Given the description of an element on the screen output the (x, y) to click on. 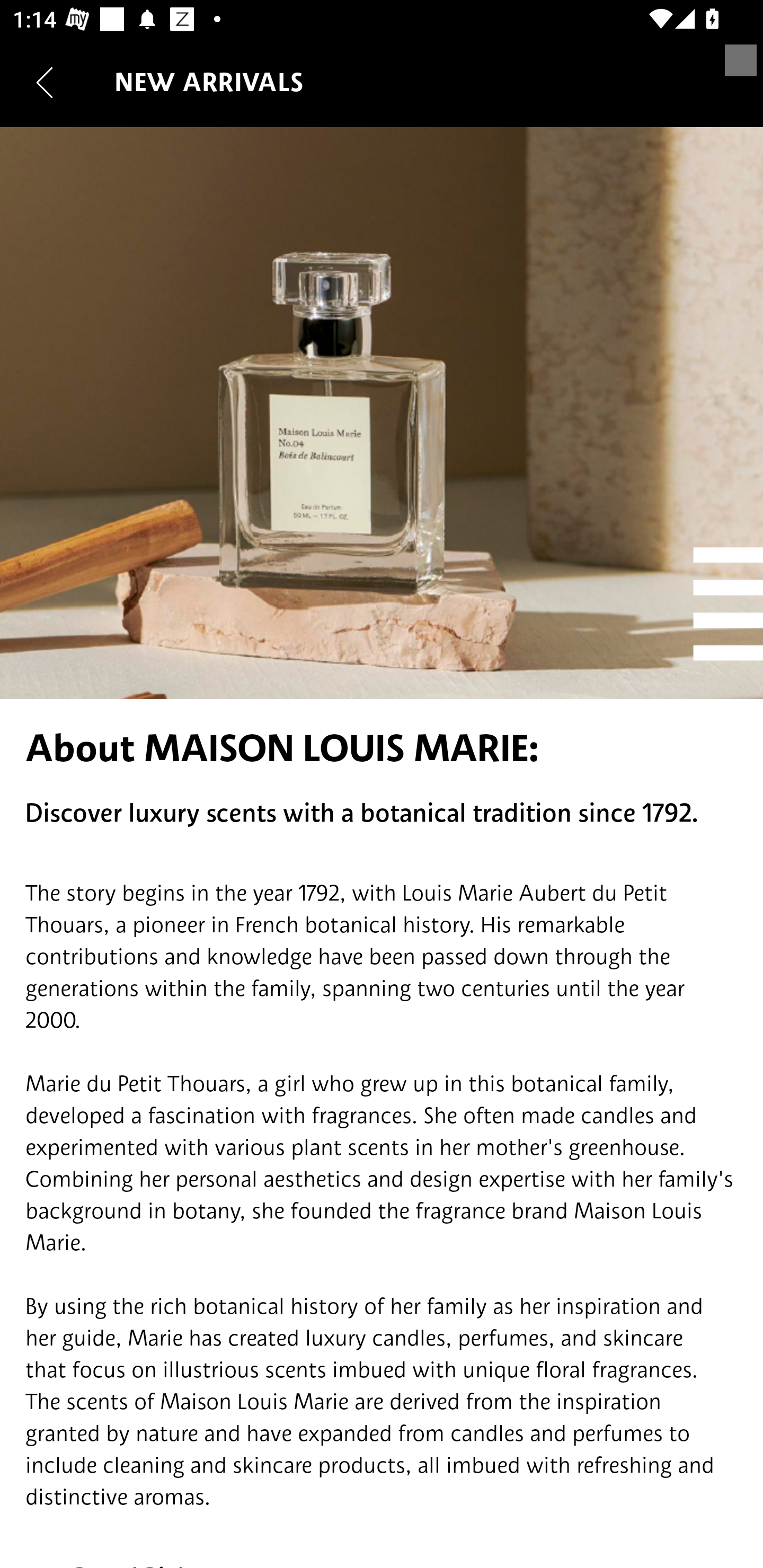
Navigate up (44, 82)
About MAISON LOUIS MARIE: (381, 747)
